Given the description of an element on the screen output the (x, y) to click on. 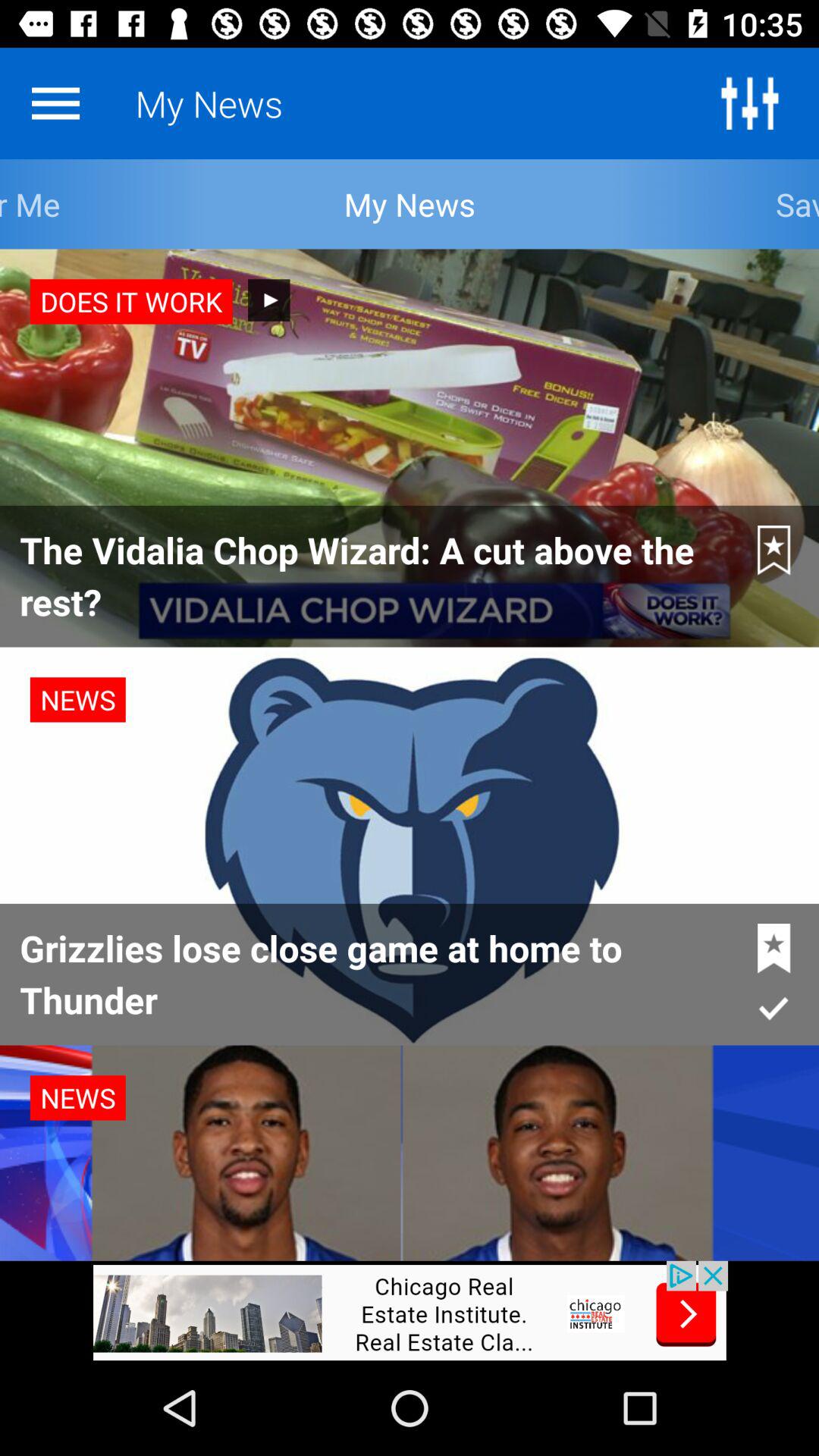
settings option (749, 102)
